Given the description of an element on the screen output the (x, y) to click on. 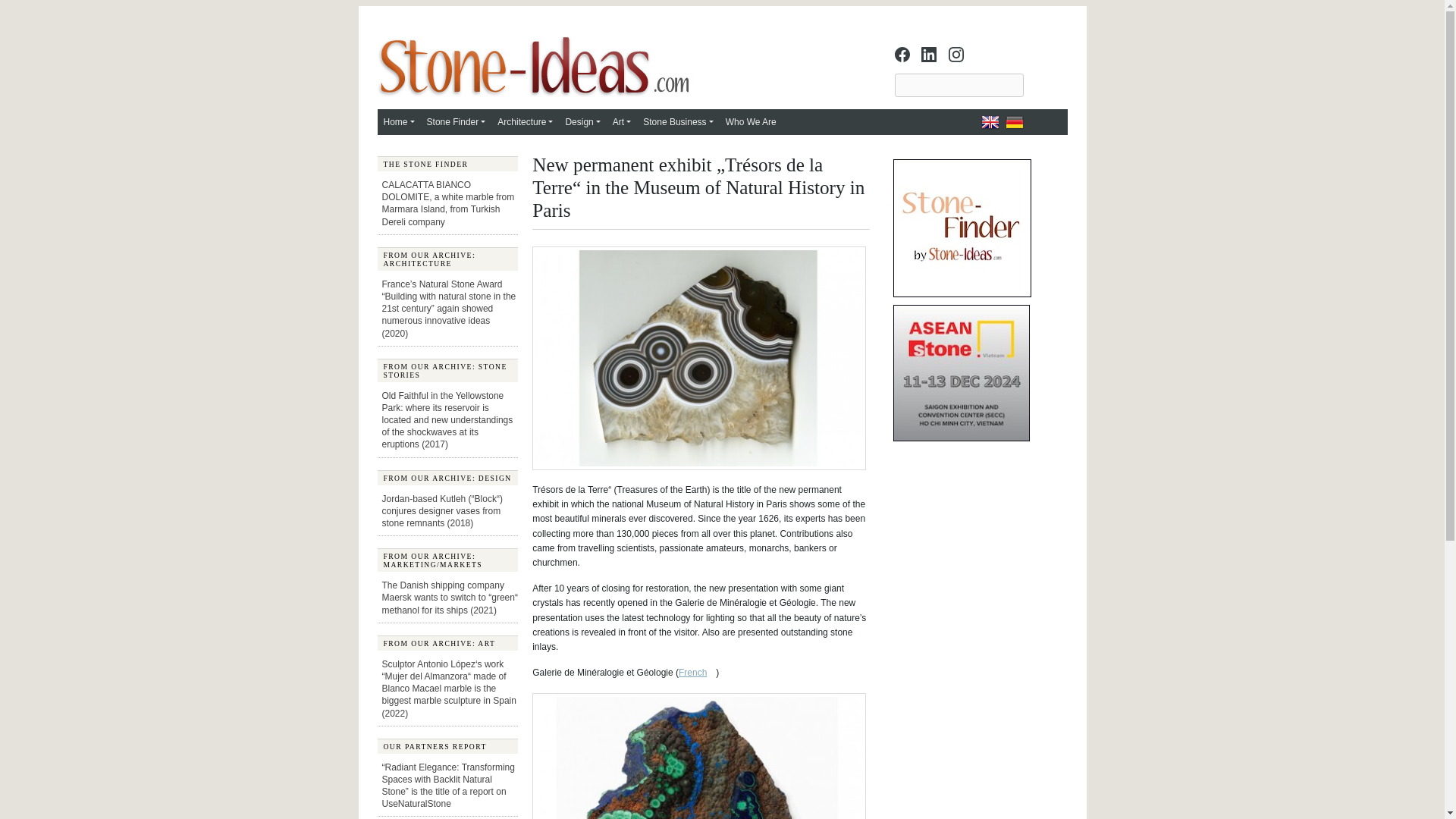
FROM OUR ARCHIVE: ARCHITECTURE (447, 259)
Art (622, 121)
THE STONE FINDER (447, 163)
Stone Business (678, 121)
Architecture (525, 121)
Stone Finder (456, 121)
Architecture (525, 121)
Home (398, 121)
Design (582, 121)
